Given the description of an element on the screen output the (x, y) to click on. 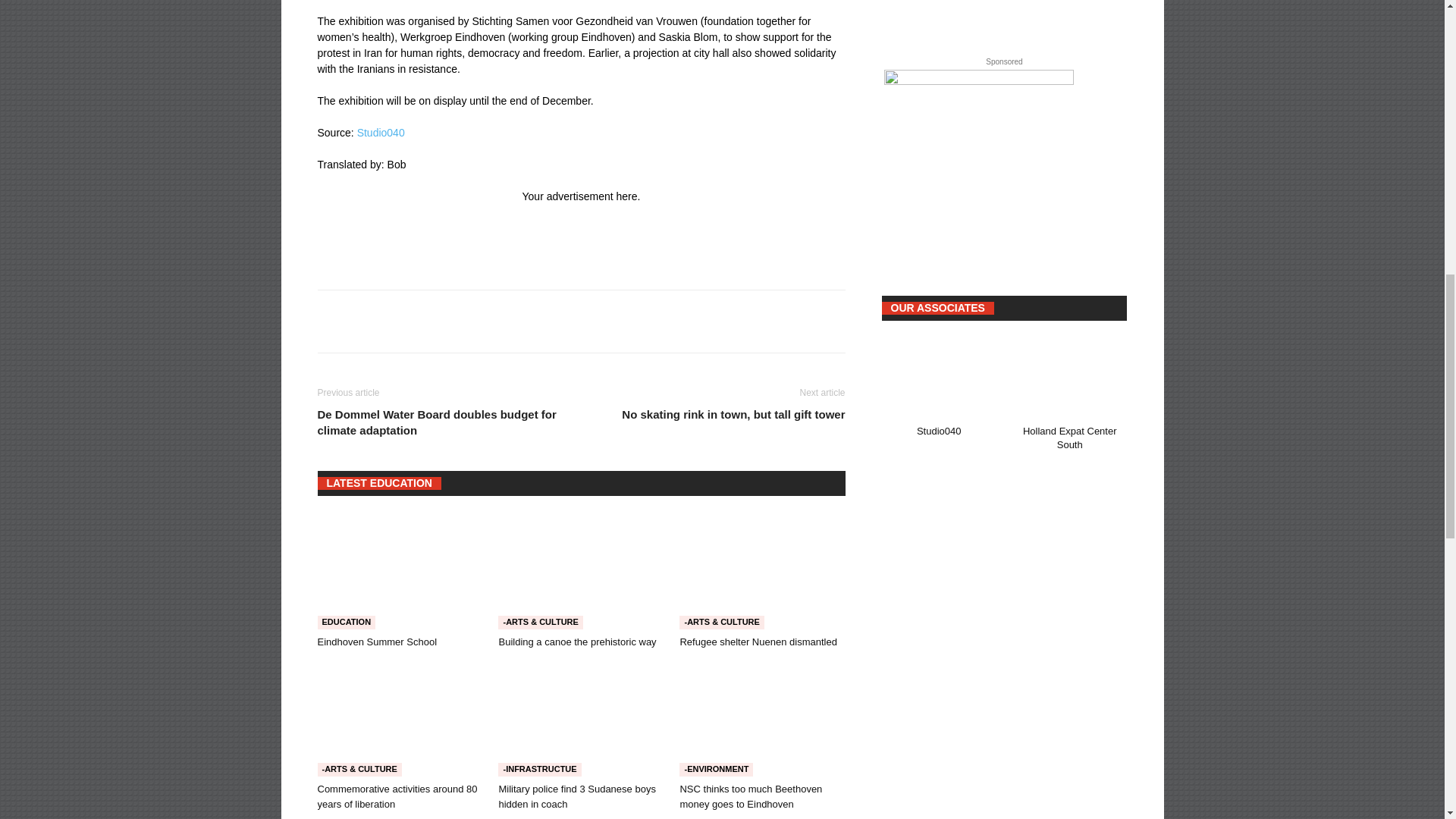
Advertisement (593, 238)
